Given the description of an element on the screen output the (x, y) to click on. 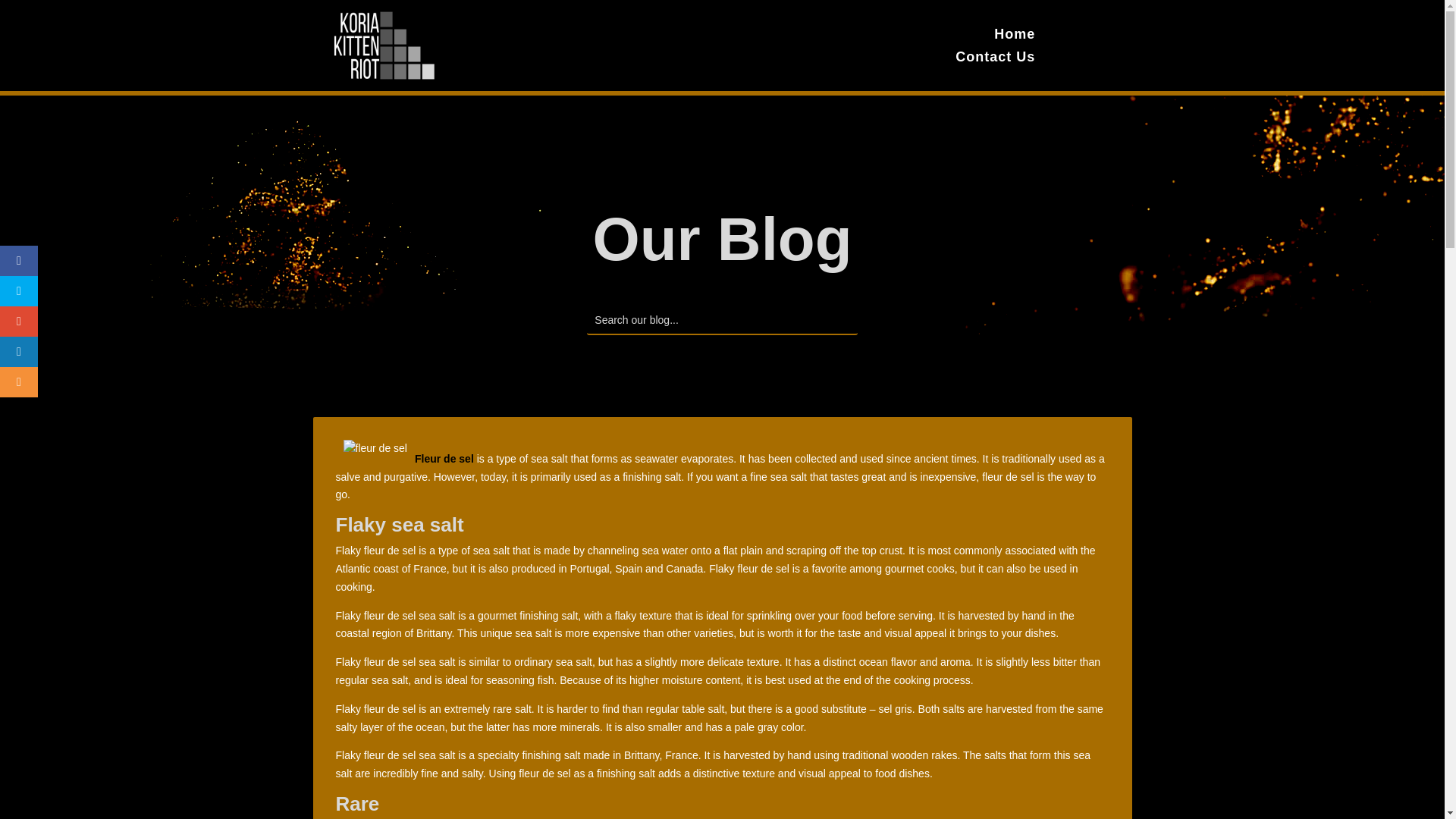
Search (24, 13)
Fleur de sel (444, 458)
koria kitten riot logo (379, 45)
Home (1014, 36)
Contact Us (995, 59)
